Given the description of an element on the screen output the (x, y) to click on. 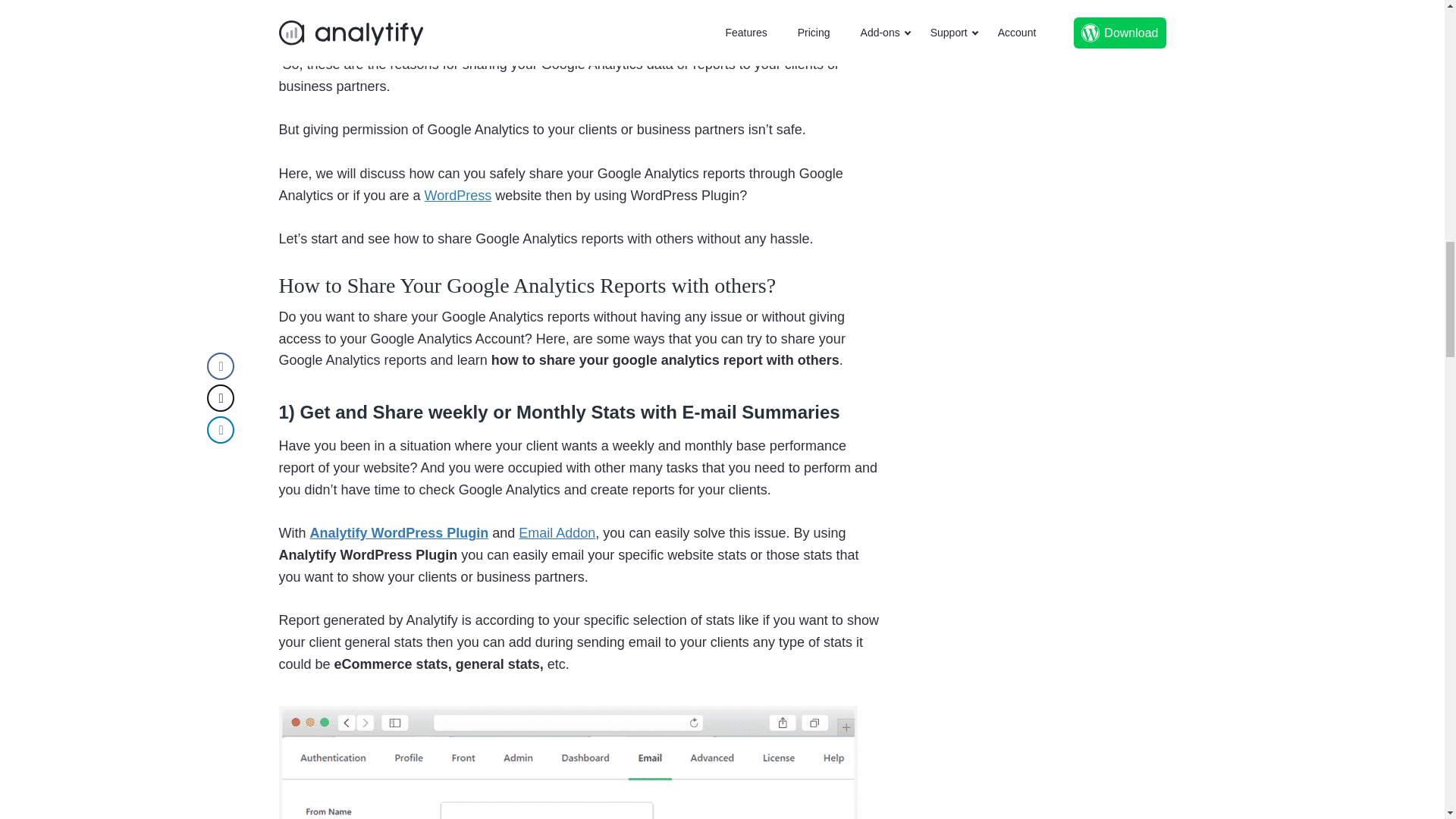
How To Share Your Google Analytics Reports With Others 1 (570, 762)
WordPress (458, 195)
Analytify WordPress Plugin (399, 532)
Email Addon (556, 532)
